Given the description of an element on the screen output the (x, y) to click on. 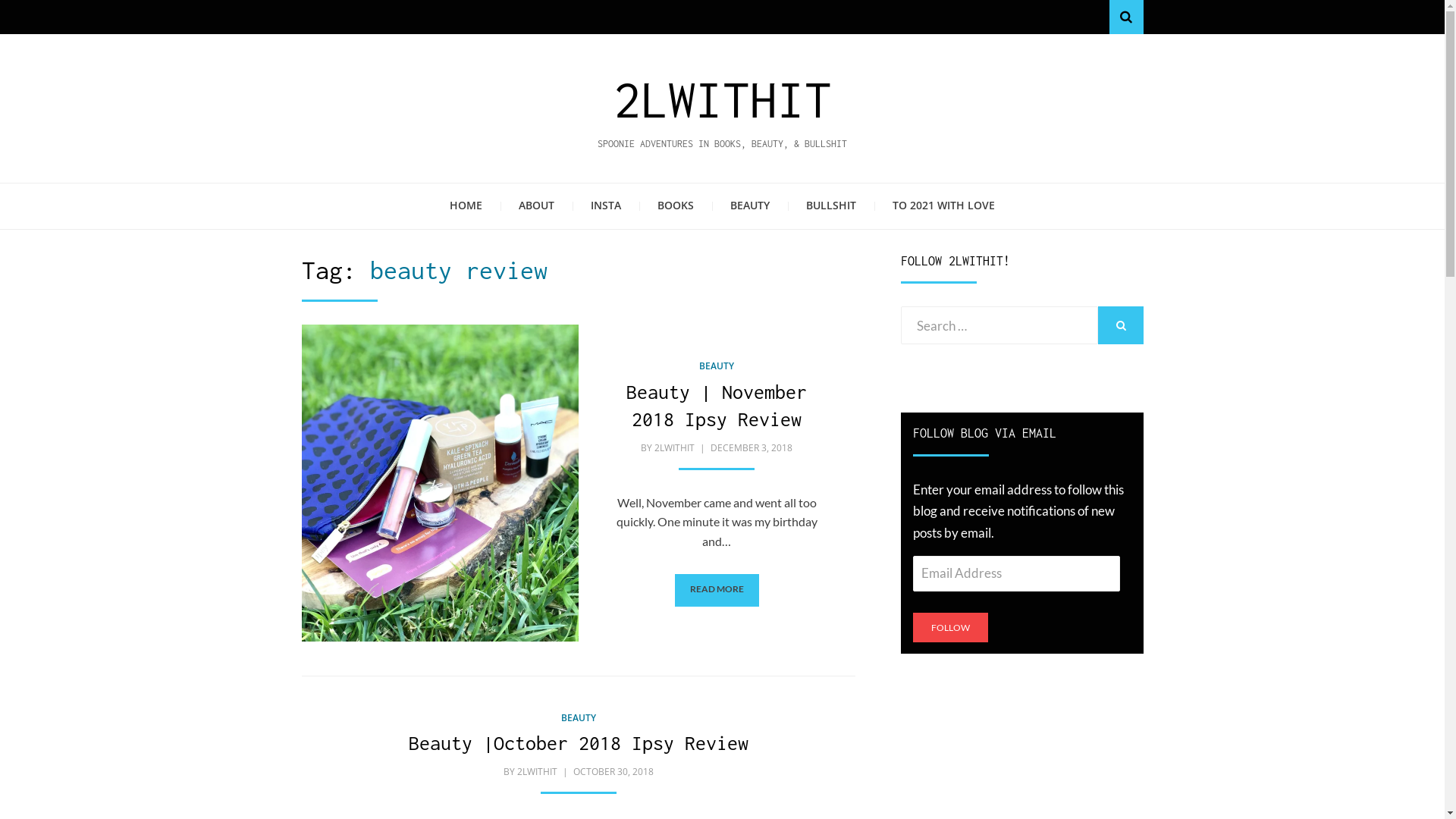
TO 2021 WITH LOVE Element type: text (943, 206)
2LWITHIT Element type: text (721, 99)
FOLLOW Element type: text (950, 627)
BOOKS Element type: text (675, 206)
Beauty |October 2018 Ipsy Review Element type: text (577, 742)
Beauty | November 2018 Ipsy Review Element type: text (716, 404)
DECEMBER 3, 2018 Element type: text (750, 447)
INSTA Element type: text (605, 206)
Search for: Element type: hover (999, 325)
BULLSHIT Element type: text (830, 206)
OCTOBER 30, 2018 Element type: text (611, 771)
BEAUTY Element type: text (578, 717)
READ MORE Element type: text (716, 590)
BEAUTY Element type: text (716, 365)
ABOUT Element type: text (536, 206)
SEARCH Element type: text (1120, 325)
Search Element type: text (1125, 17)
HOME Element type: text (465, 206)
2LWITHIT Element type: text (674, 447)
2LWITHIT Element type: text (537, 771)
BEAUTY Element type: text (749, 206)
